Given the description of an element on the screen output the (x, y) to click on. 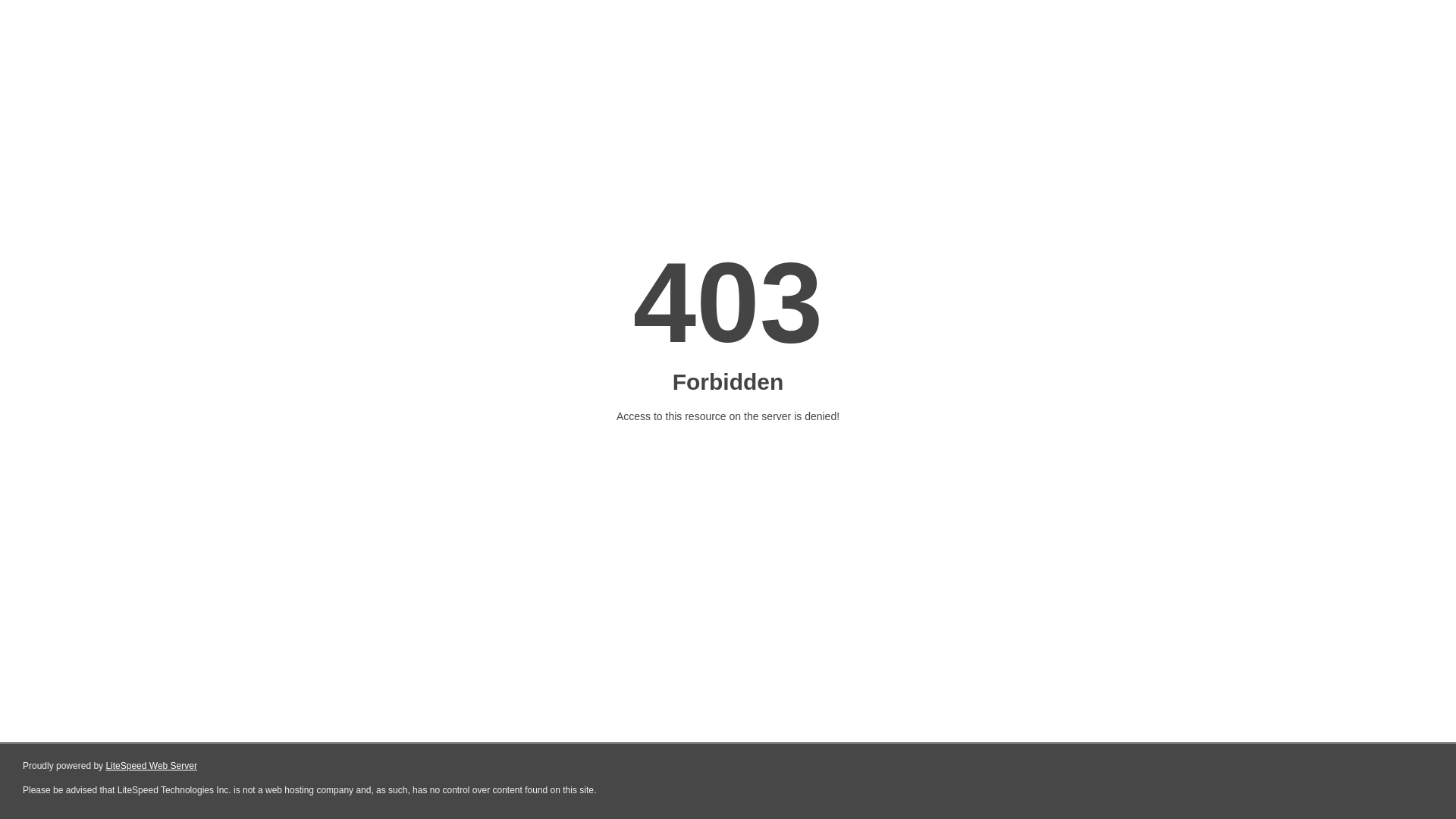
LiteSpeed Web Server Element type: text (151, 765)
